Given the description of an element on the screen output the (x, y) to click on. 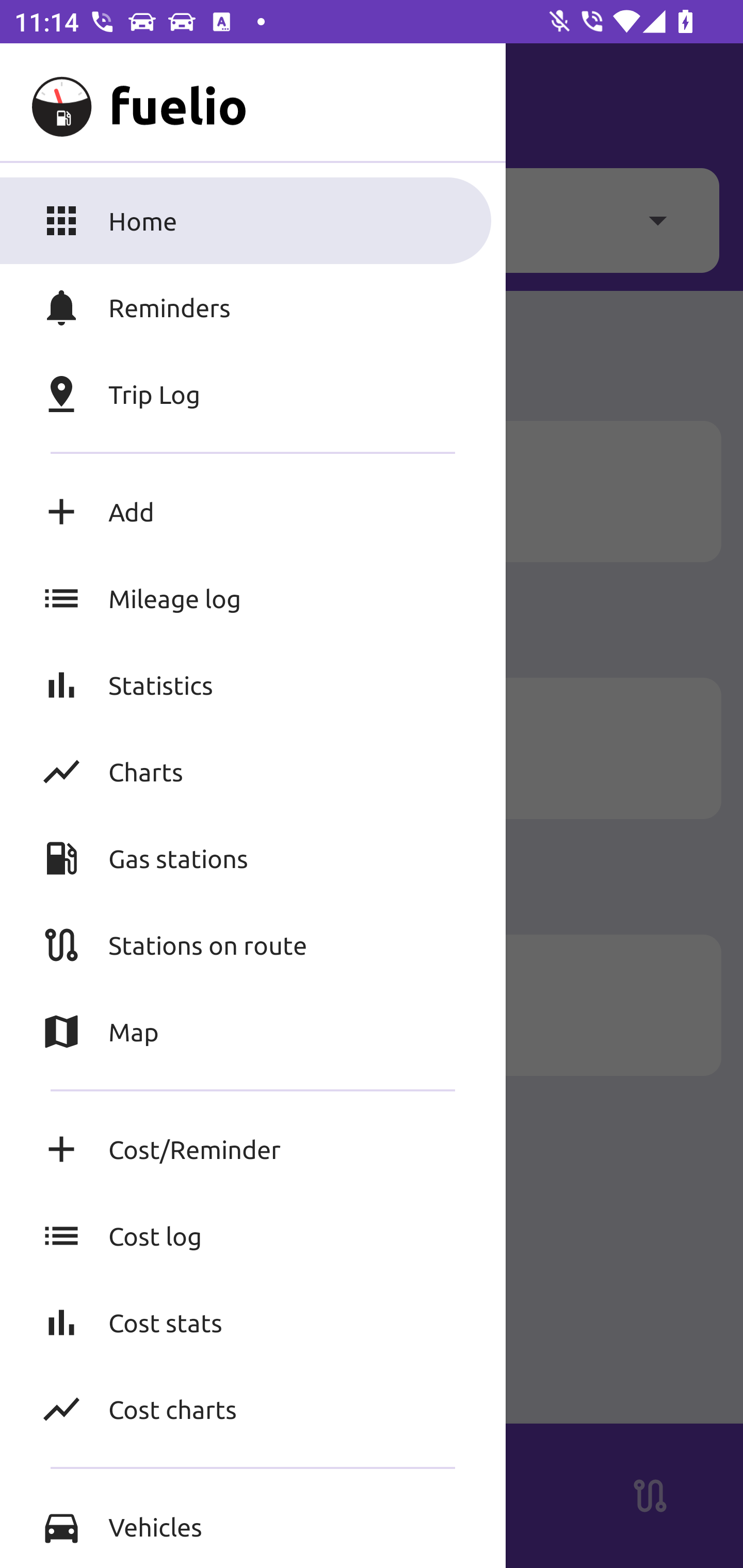
Fuelio (50, 101)
Home (252, 220)
Reminders (252, 307)
Trip Log (252, 394)
Add (252, 511)
Mileage log (252, 598)
Statistics (252, 684)
Charts (252, 771)
Gas stations (252, 858)
Stations on route (252, 944)
Map (252, 1031)
Cost/Reminder (252, 1149)
Cost log (252, 1236)
Cost stats (252, 1322)
Cost charts (252, 1408)
Vehicles (252, 1525)
